Given the description of an element on the screen output the (x, y) to click on. 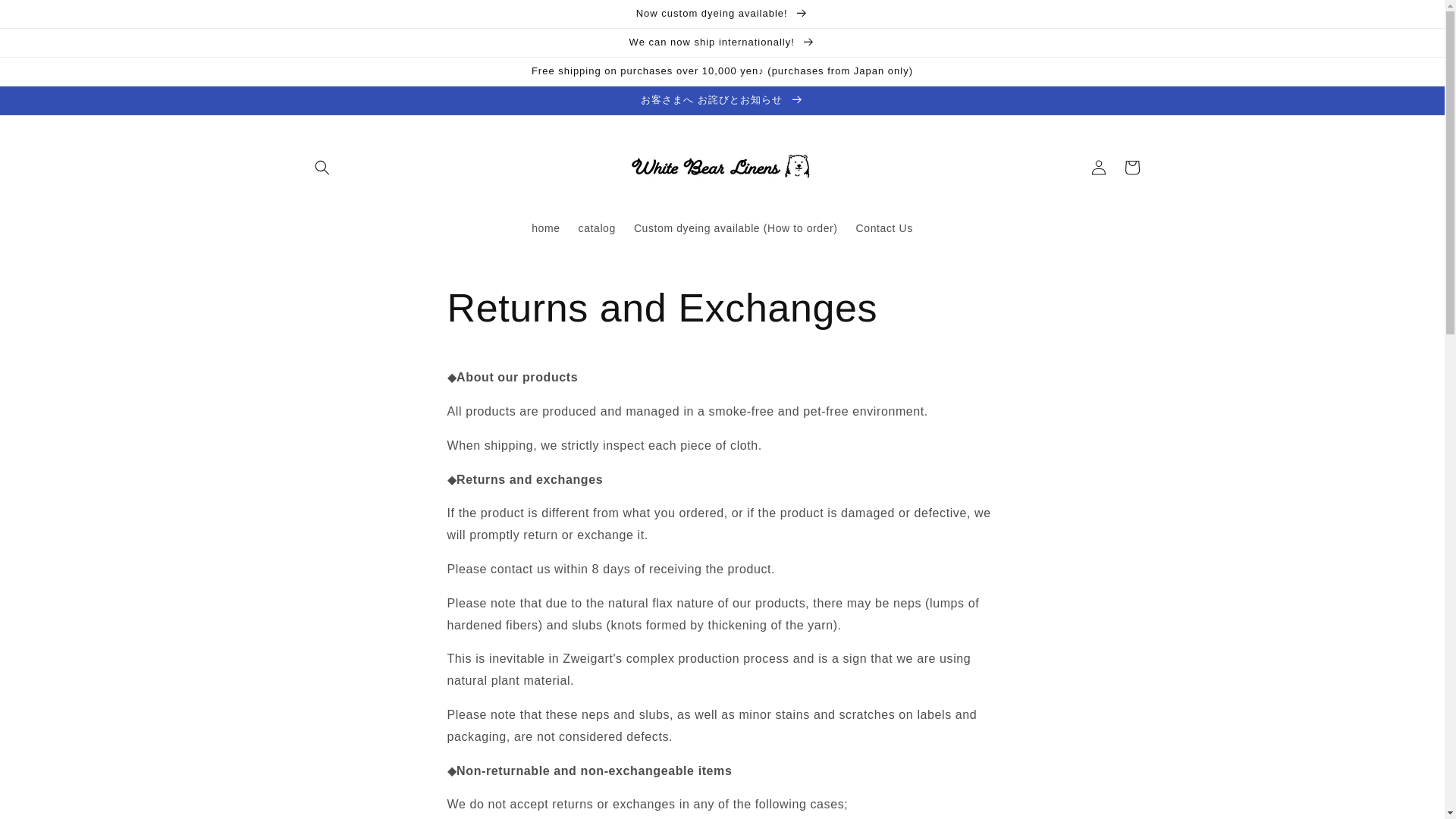
Skip to content (45, 17)
Contact Us (884, 228)
Log in (1098, 167)
Cart (1131, 167)
home (545, 228)
catalog (596, 228)
